Given the description of an element on the screen output the (x, y) to click on. 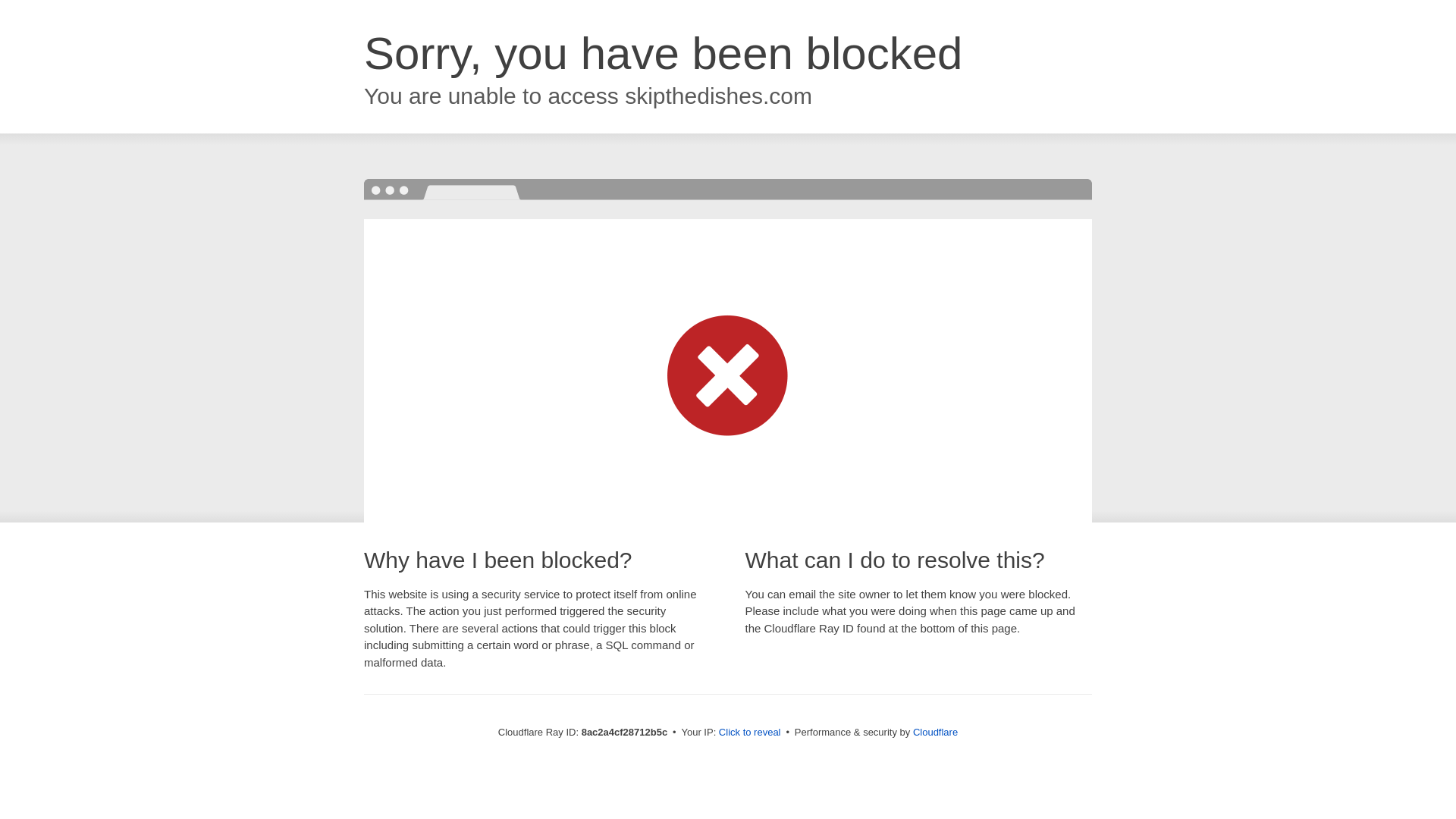
Cloudflare (935, 731)
Click to reveal (749, 732)
